Given the description of an element on the screen output the (x, y) to click on. 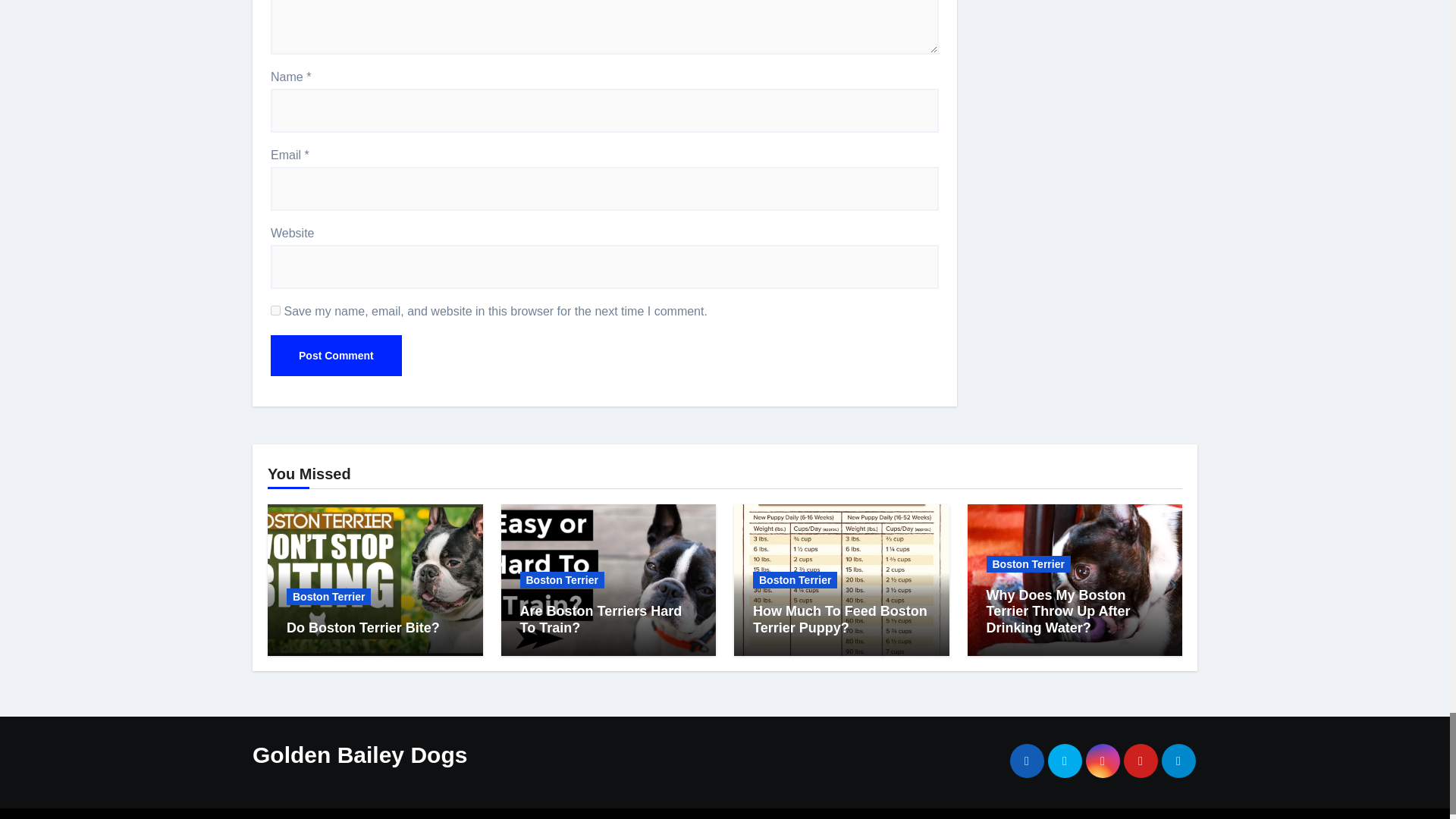
Post Comment (335, 354)
yes (275, 310)
